Given the description of an element on the screen output the (x, y) to click on. 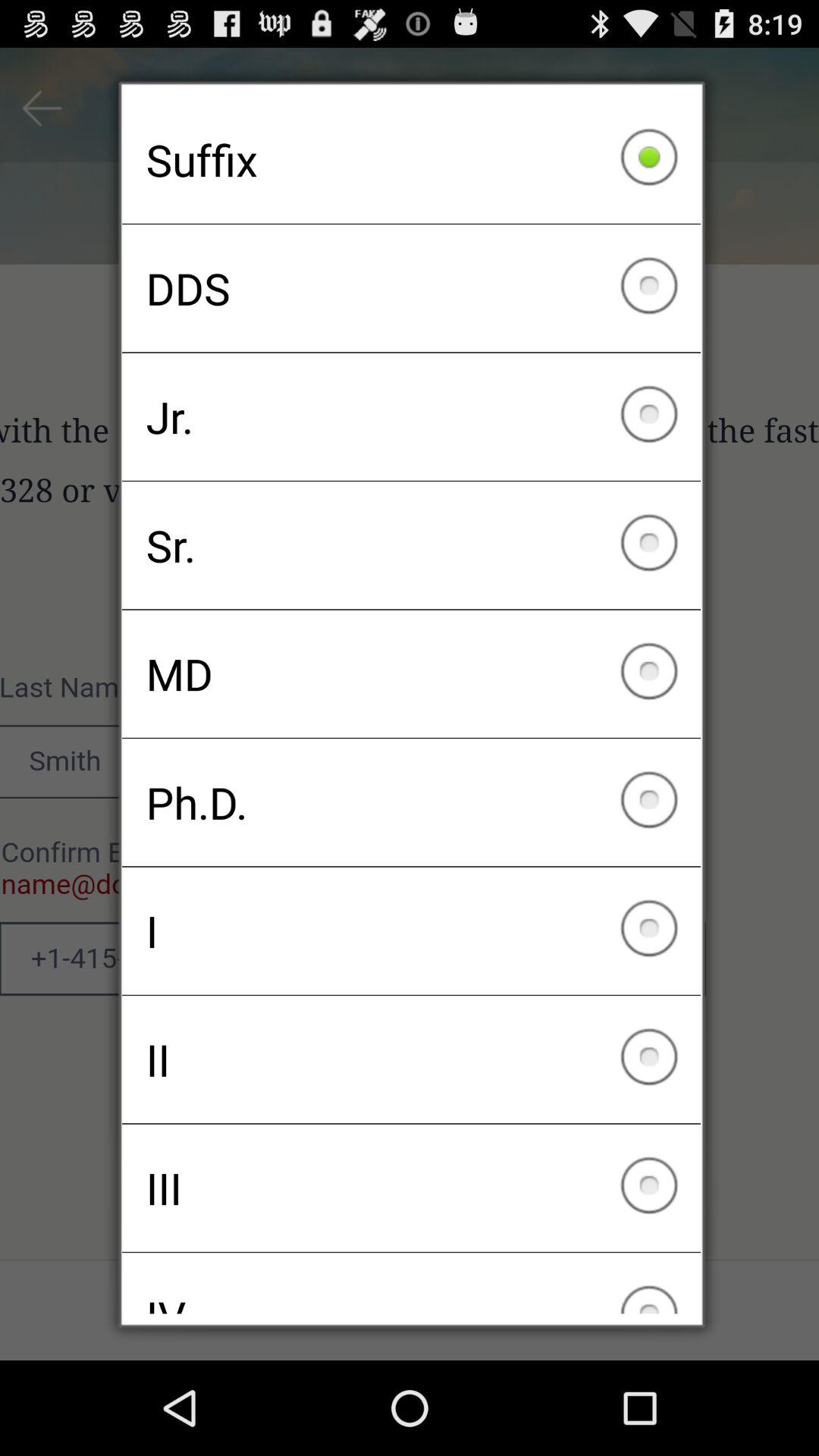
flip to ph.d. item (411, 802)
